Given the description of an element on the screen output the (x, y) to click on. 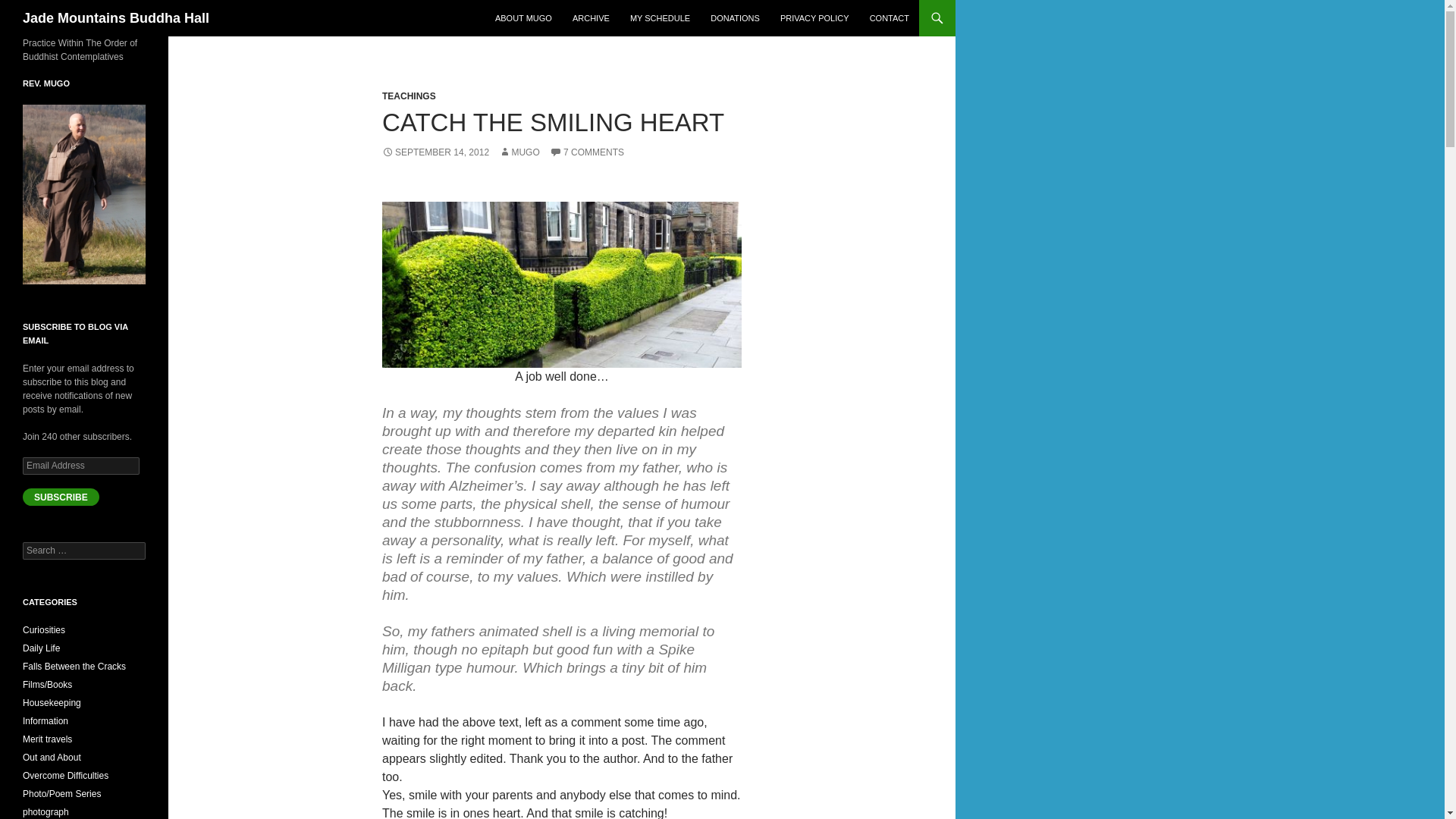
ARCHIVE (590, 18)
PRIVACY POLICY (815, 18)
MY SCHEDULE (659, 18)
MUGO (518, 152)
TEACHINGS (408, 95)
DONATIONS (734, 18)
7 COMMENTS (587, 152)
CONTACT (889, 18)
ABOUT MUGO (523, 18)
SEPTEMBER 14, 2012 (435, 152)
Jade Mountains Buddha Hall (116, 18)
